Given the description of an element on the screen output the (x, y) to click on. 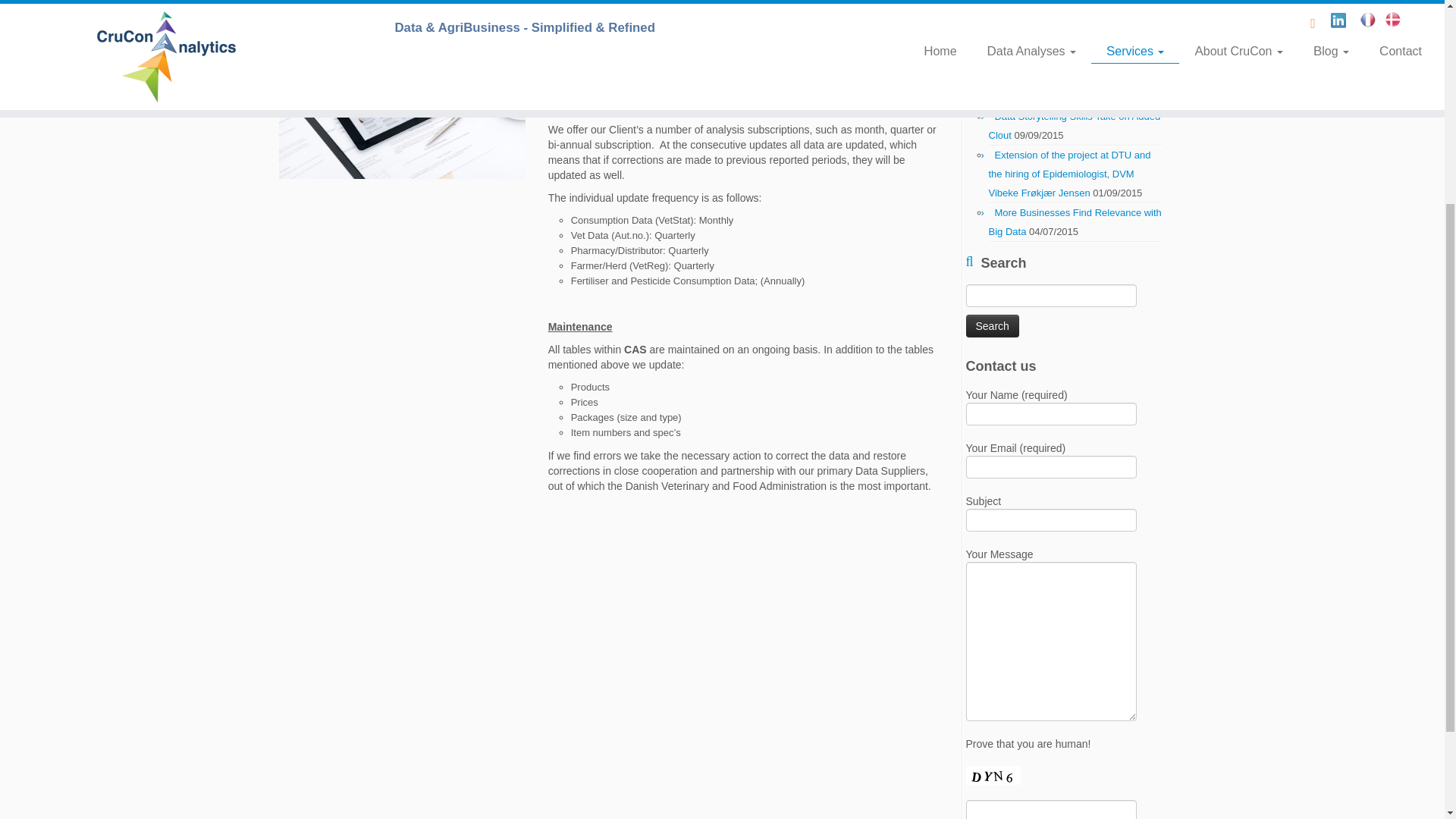
Search (992, 325)
Data Storytelling Skills Take on Added Clout (1074, 125)
More Businesses Find Relevance with Big Data (1074, 222)
Search (992, 325)
